Given the description of an element on the screen output the (x, y) to click on. 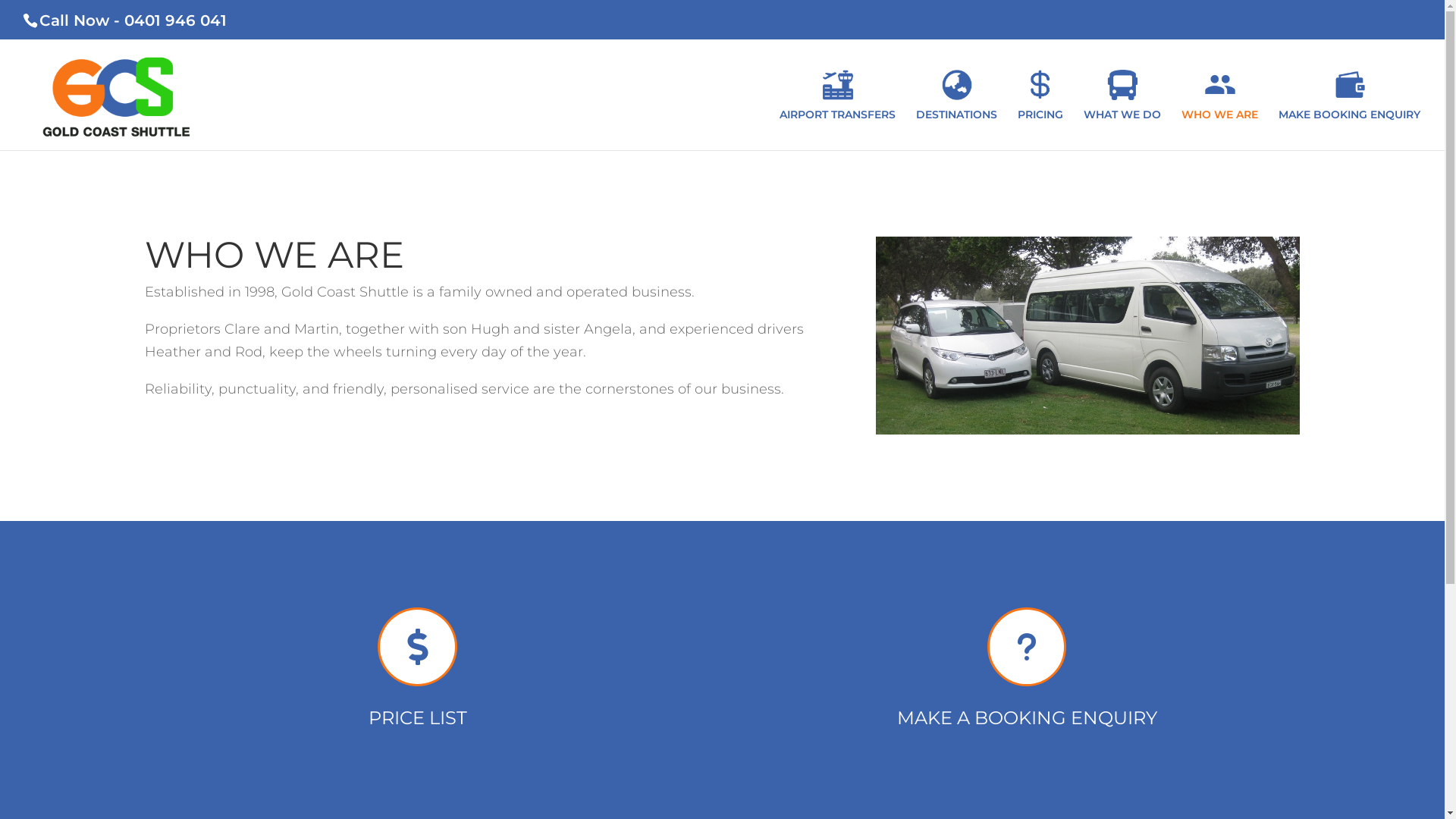
DESTINATIONS Element type: text (956, 109)
PRICING Element type: text (1040, 109)
MAKE BOOKING ENQUIRY Element type: text (1349, 109)
WHAT WE DO Element type: text (1122, 109)
0401 946 041 Element type: text (175, 20)
AIRPORT TRANSFERS Element type: text (837, 109)
WHO WE ARE Element type: text (1219, 109)
